Given the description of an element on the screen output the (x, y) to click on. 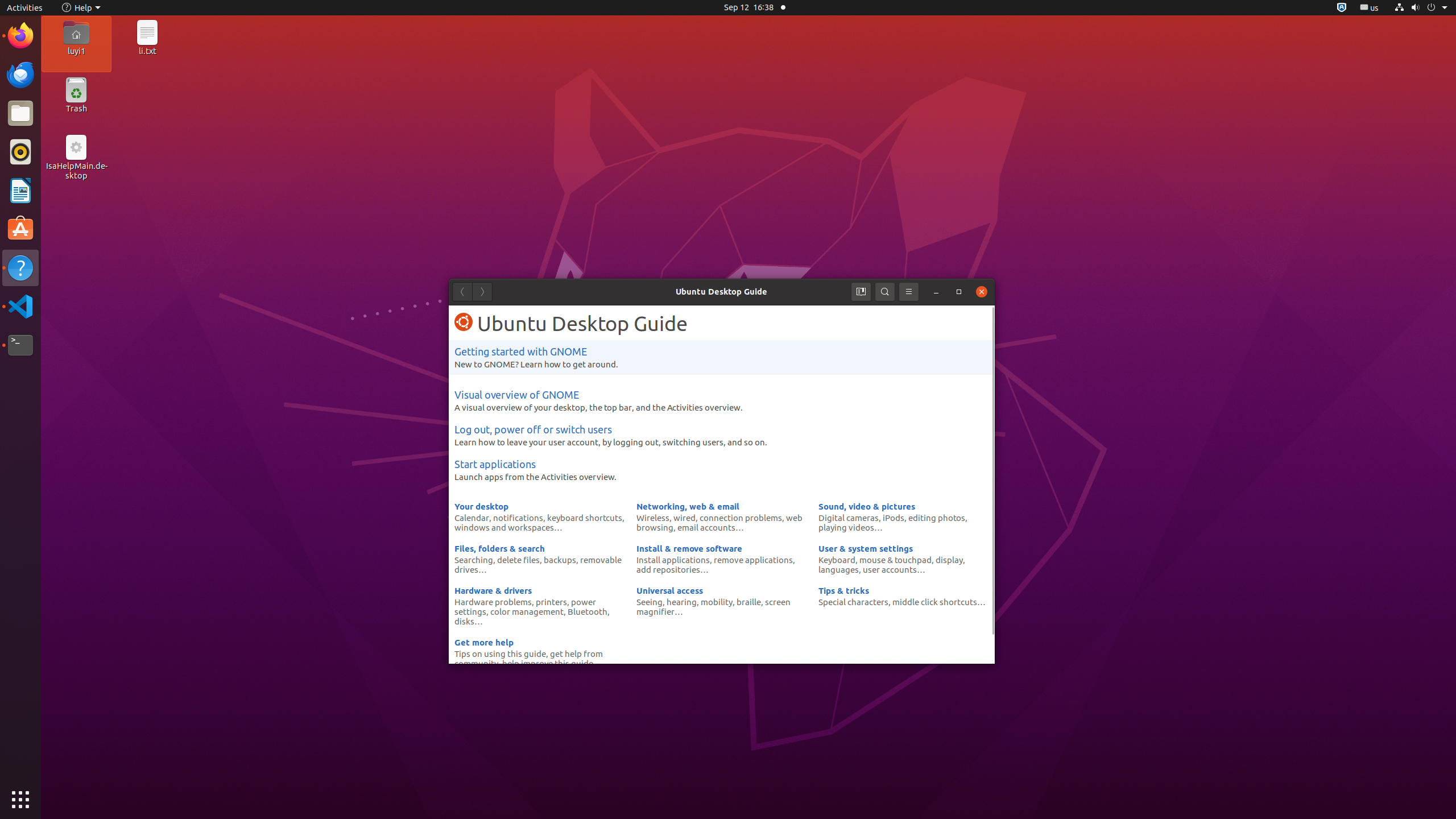
Log out, power off or switch users Learn how to leave your user account, by logging out, switching users, and so on. Element type: link (721, 434)
Ubuntu Desktop Guide Element type: label (721, 291)
Networking, web & email Element type: link (687, 506)
braille Element type: link (748, 601)
Files, folders & search Element type: link (499, 548)
